Given the description of an element on the screen output the (x, y) to click on. 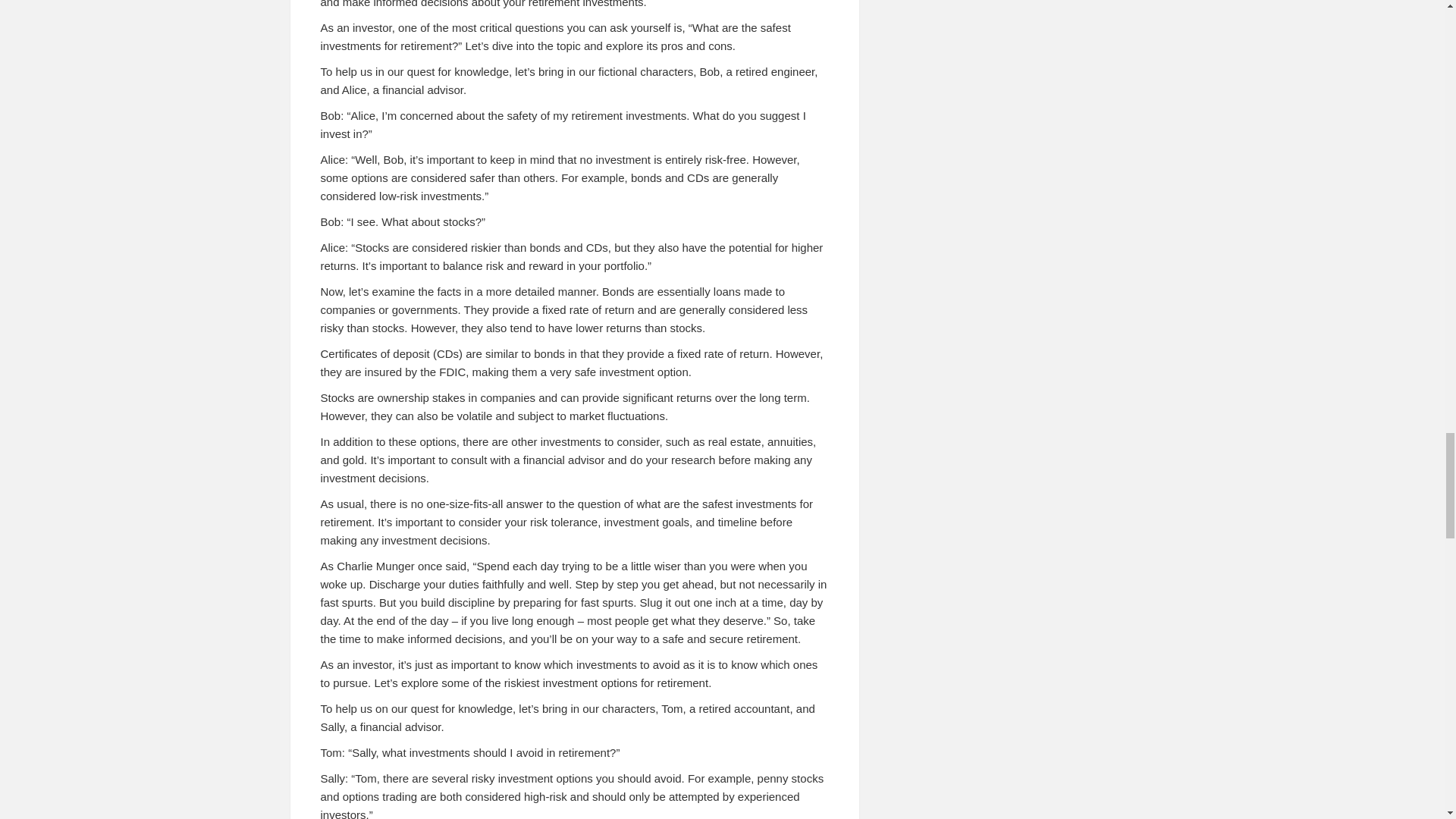
Charlie Munger (375, 565)
